Given the description of an element on the screen output the (x, y) to click on. 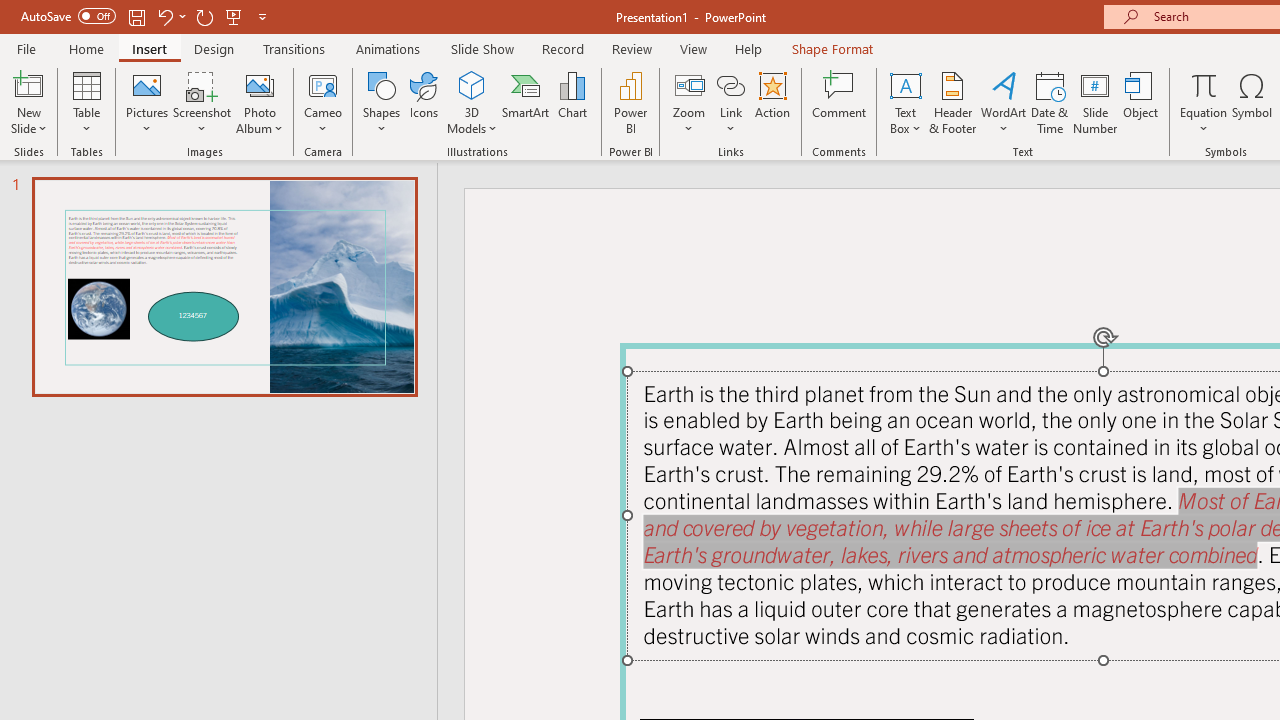
Comment (839, 102)
Object... (1141, 102)
Chart... (572, 102)
Screenshot (202, 102)
New Photo Album... (259, 84)
